Given the description of an element on the screen output the (x, y) to click on. 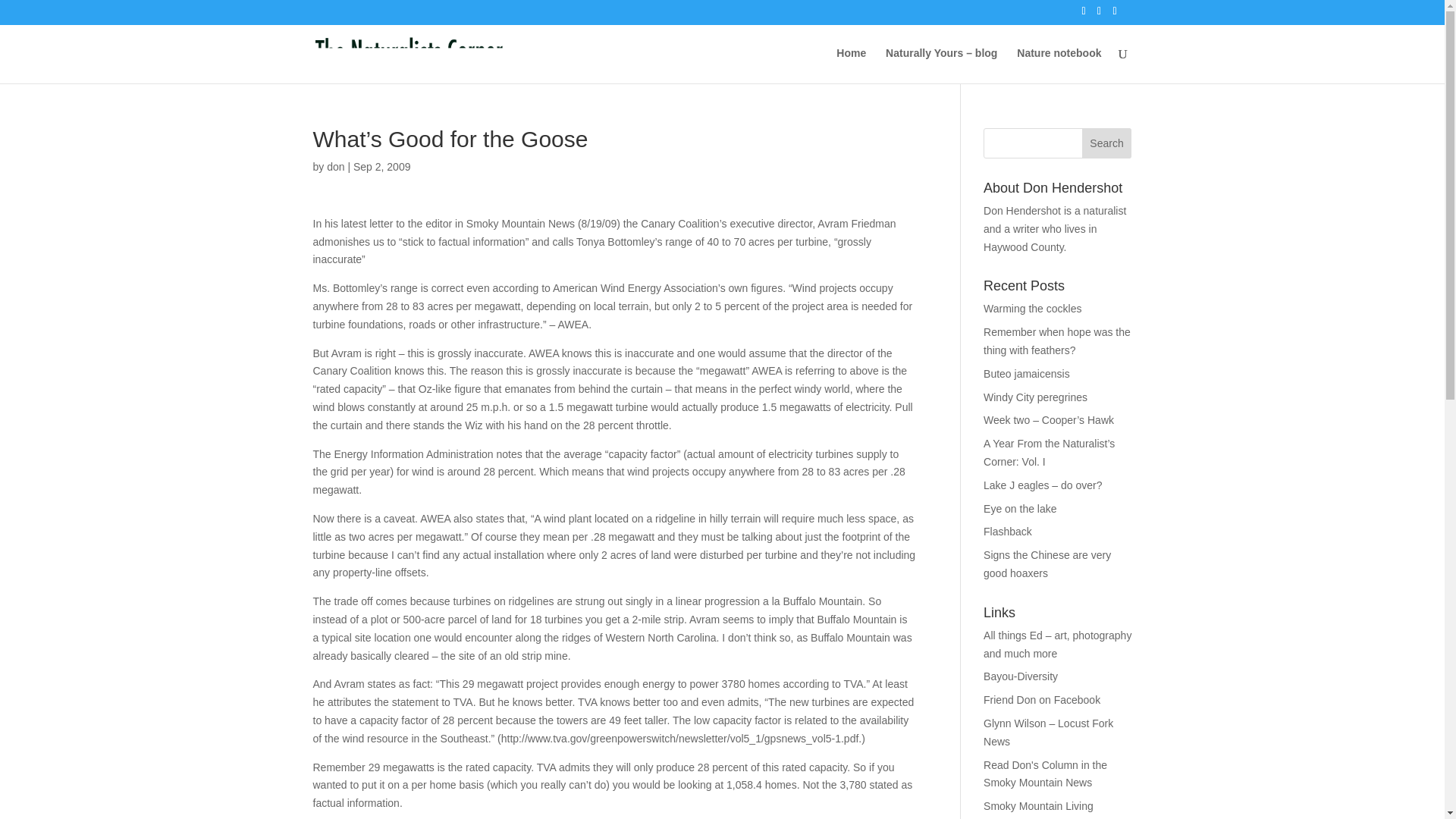
Windy City peregrines (1035, 397)
Remember when hope was the thing with feathers? (1057, 340)
Posts by don (334, 166)
don (334, 166)
Search (1106, 142)
Smoky Mountain Living Magazine (1038, 809)
Signs the Chinese are very good hoaxers (1047, 563)
Buteo jamaicensis (1027, 373)
Bayou-Diversity (1021, 676)
